Given the description of an element on the screen output the (x, y) to click on. 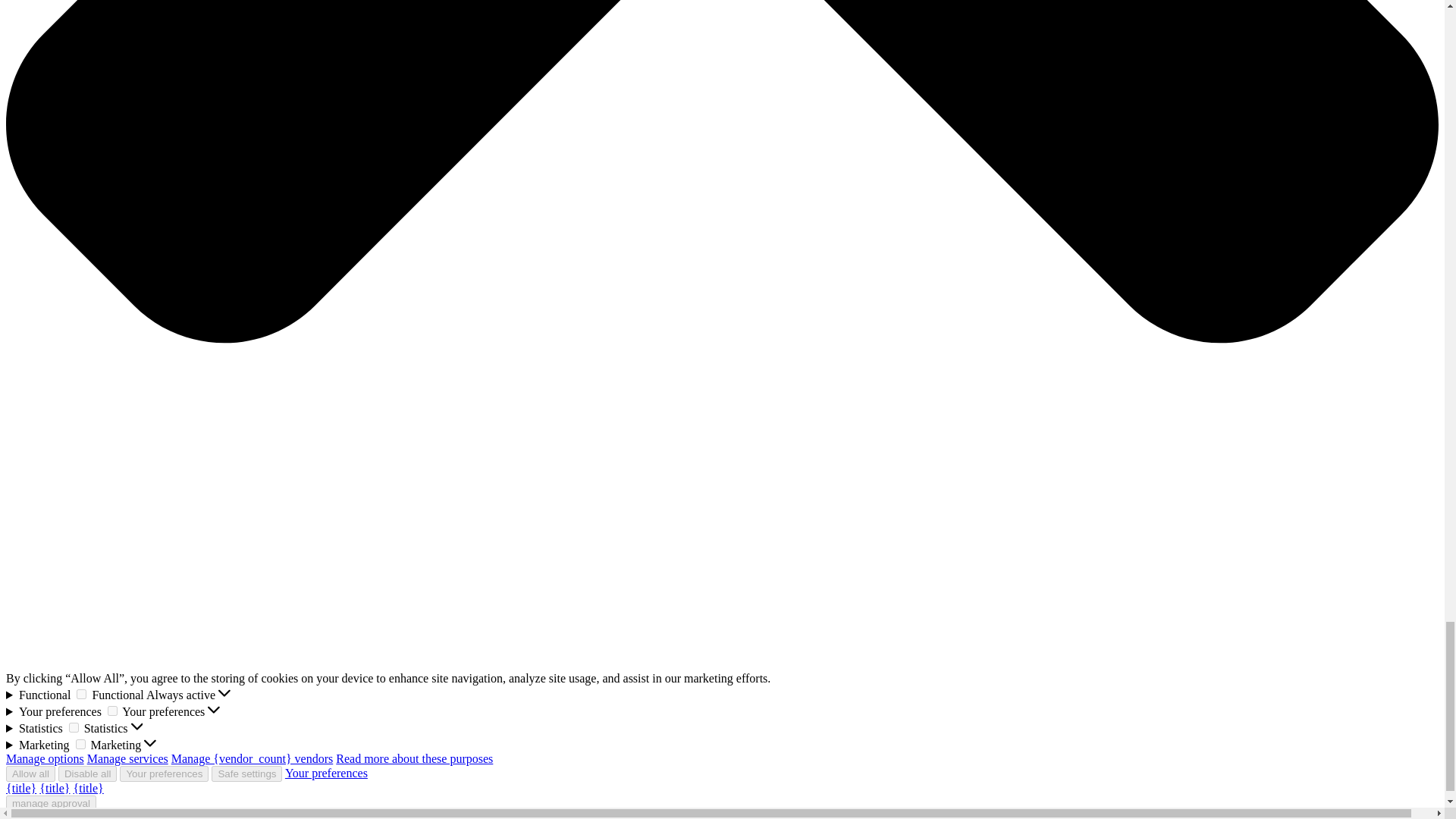
1 (112, 710)
1 (81, 694)
1 (73, 727)
1 (80, 744)
